Given the description of an element on the screen output the (x, y) to click on. 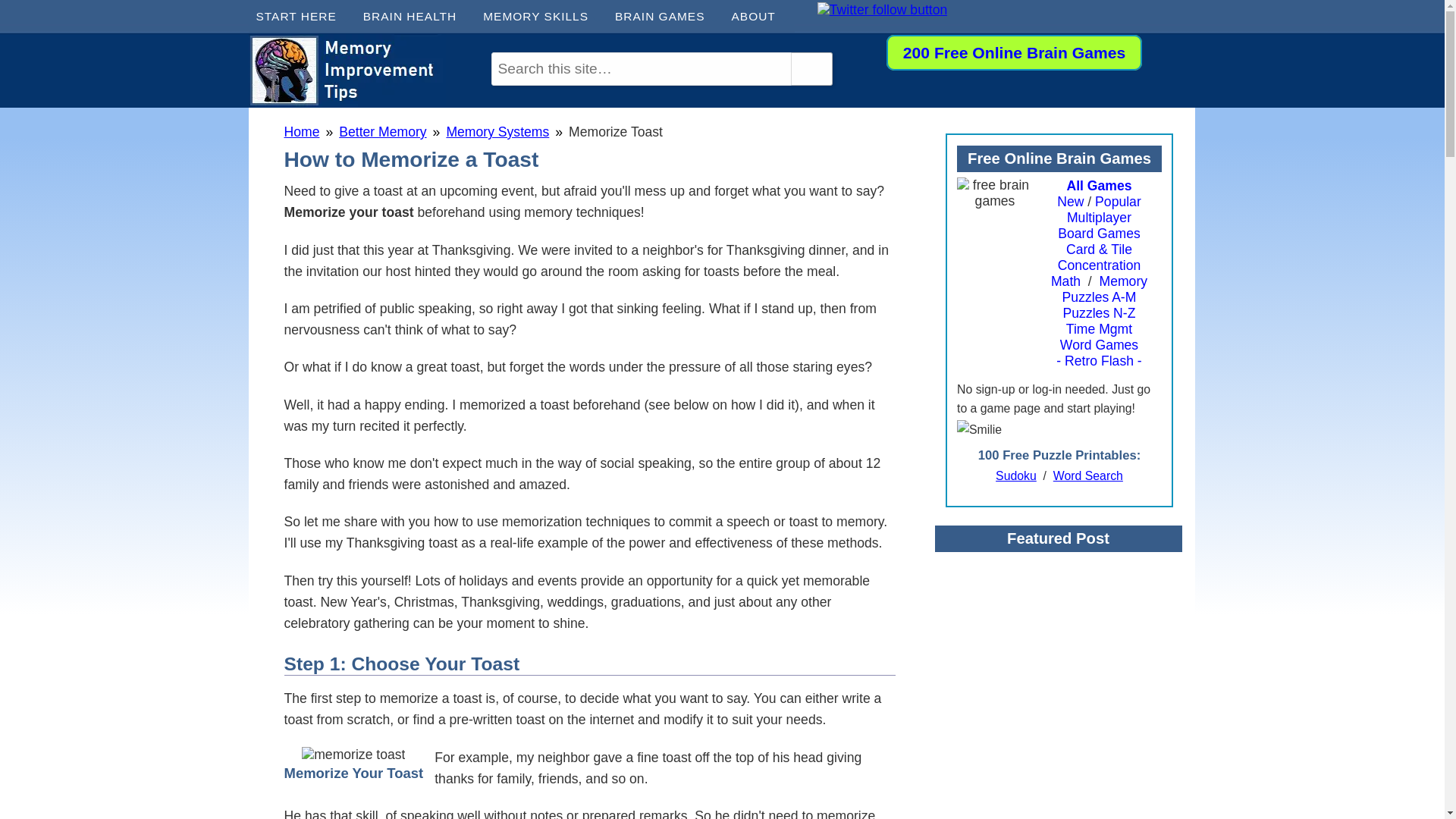
START HERE (301, 16)
Cheers! (352, 754)
BRAIN GAMES (665, 16)
MEMORY SKILLS (541, 16)
Play Free Anytime (1013, 51)
ABOUT (758, 16)
BRAIN HEALTH (415, 16)
